Given the description of an element on the screen output the (x, y) to click on. 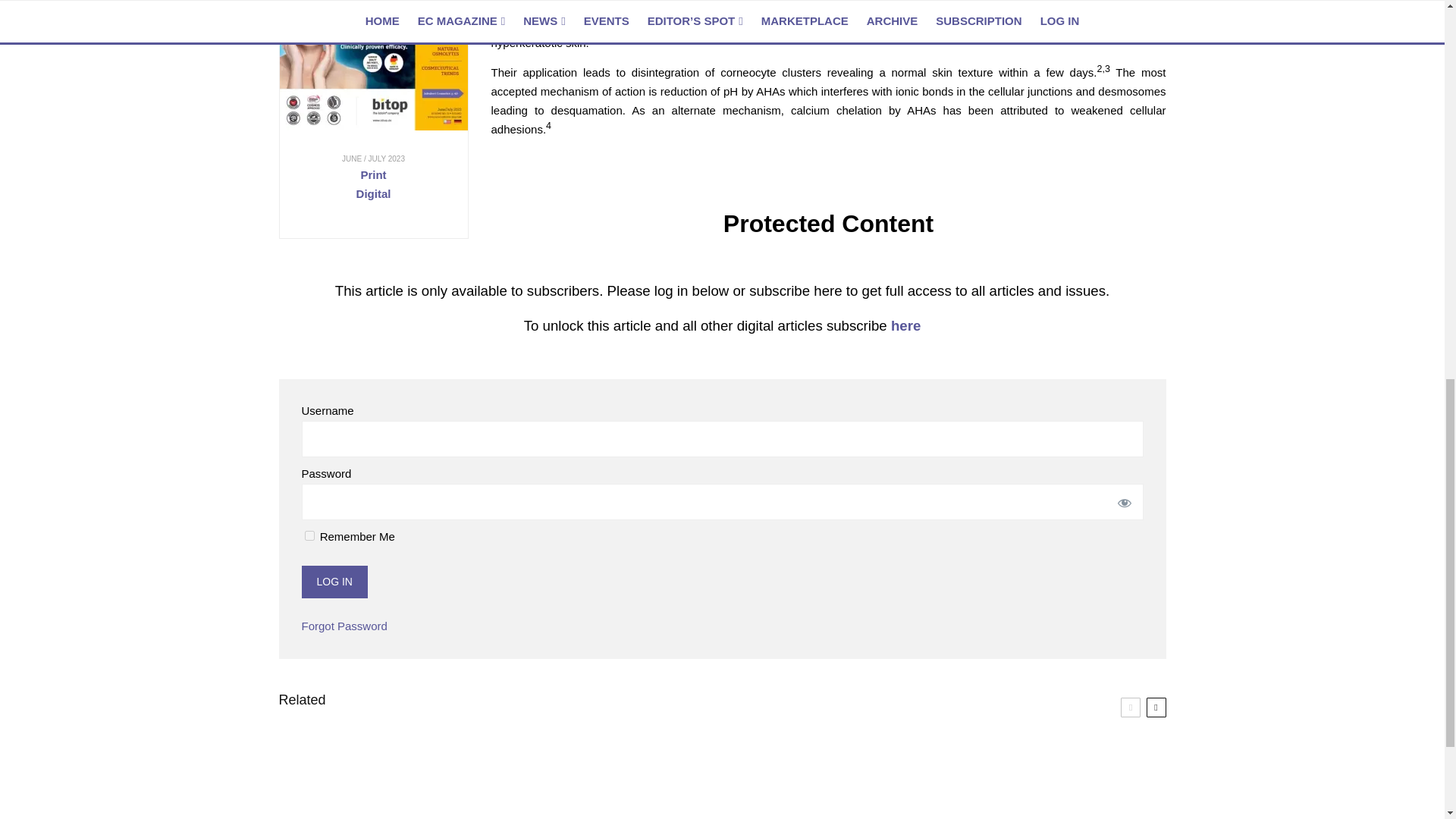
Digital (373, 193)
Print (372, 174)
Log In (334, 581)
forever (309, 535)
